Given the description of an element on the screen output the (x, y) to click on. 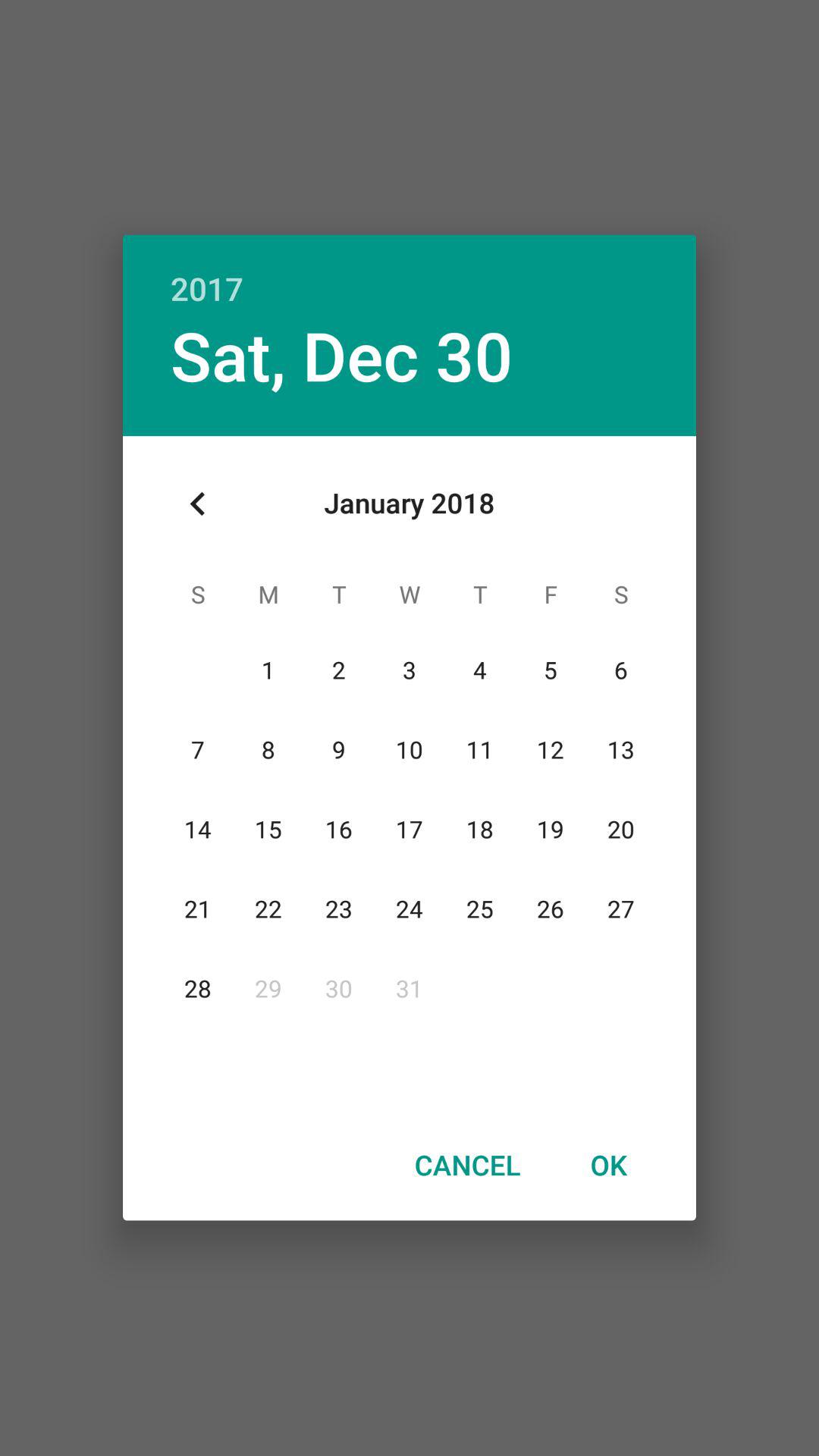
turn off 2017 icon (409, 271)
